Given the description of an element on the screen output the (x, y) to click on. 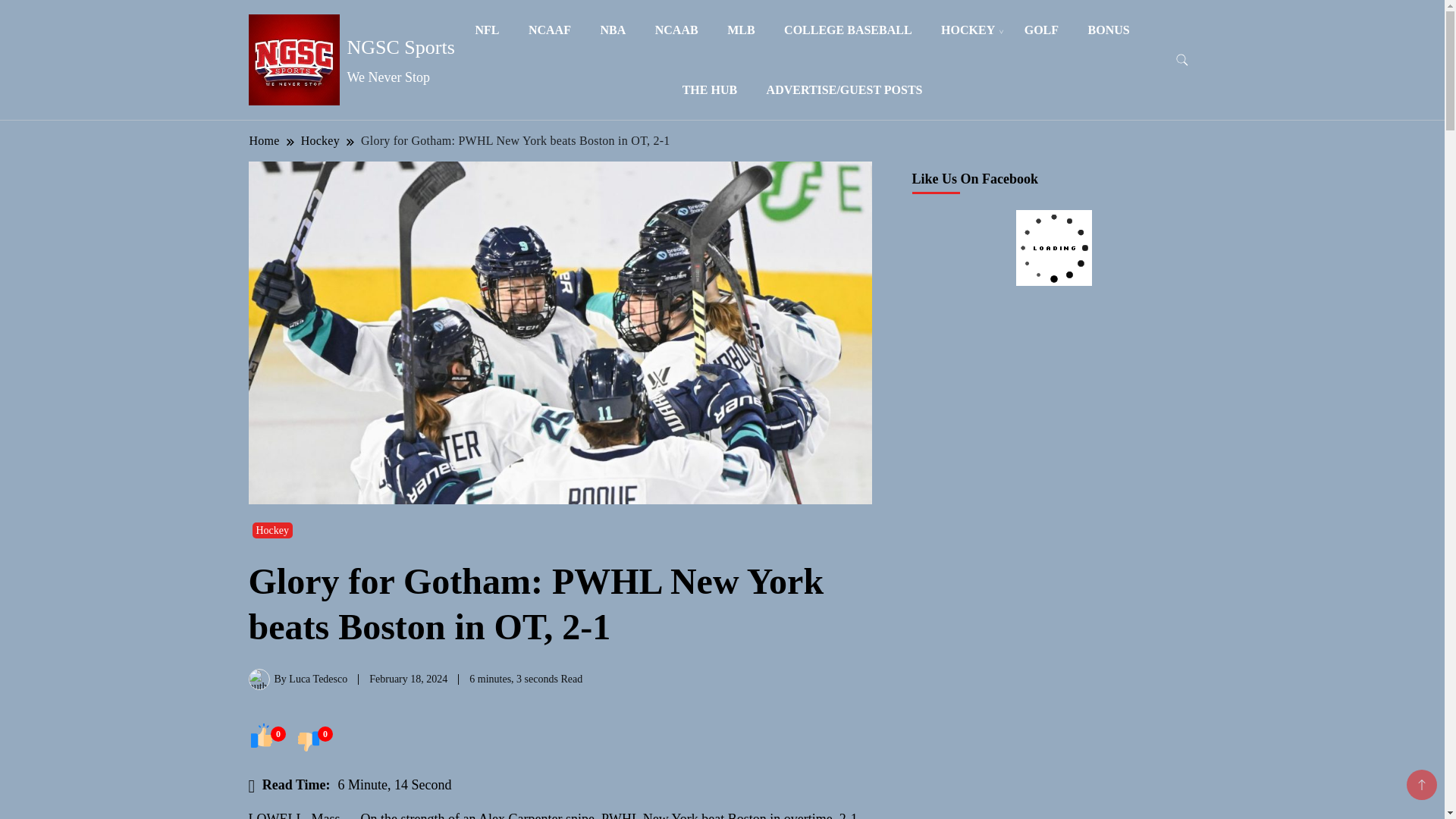
BONUS (1108, 29)
COLLEGE BASEBALL (847, 29)
NGSC Sports (400, 47)
NCAAB (676, 29)
HOCKEY (967, 29)
GOLF (1041, 29)
NCAAF (549, 29)
THE HUB (709, 89)
